Given the description of an element on the screen output the (x, y) to click on. 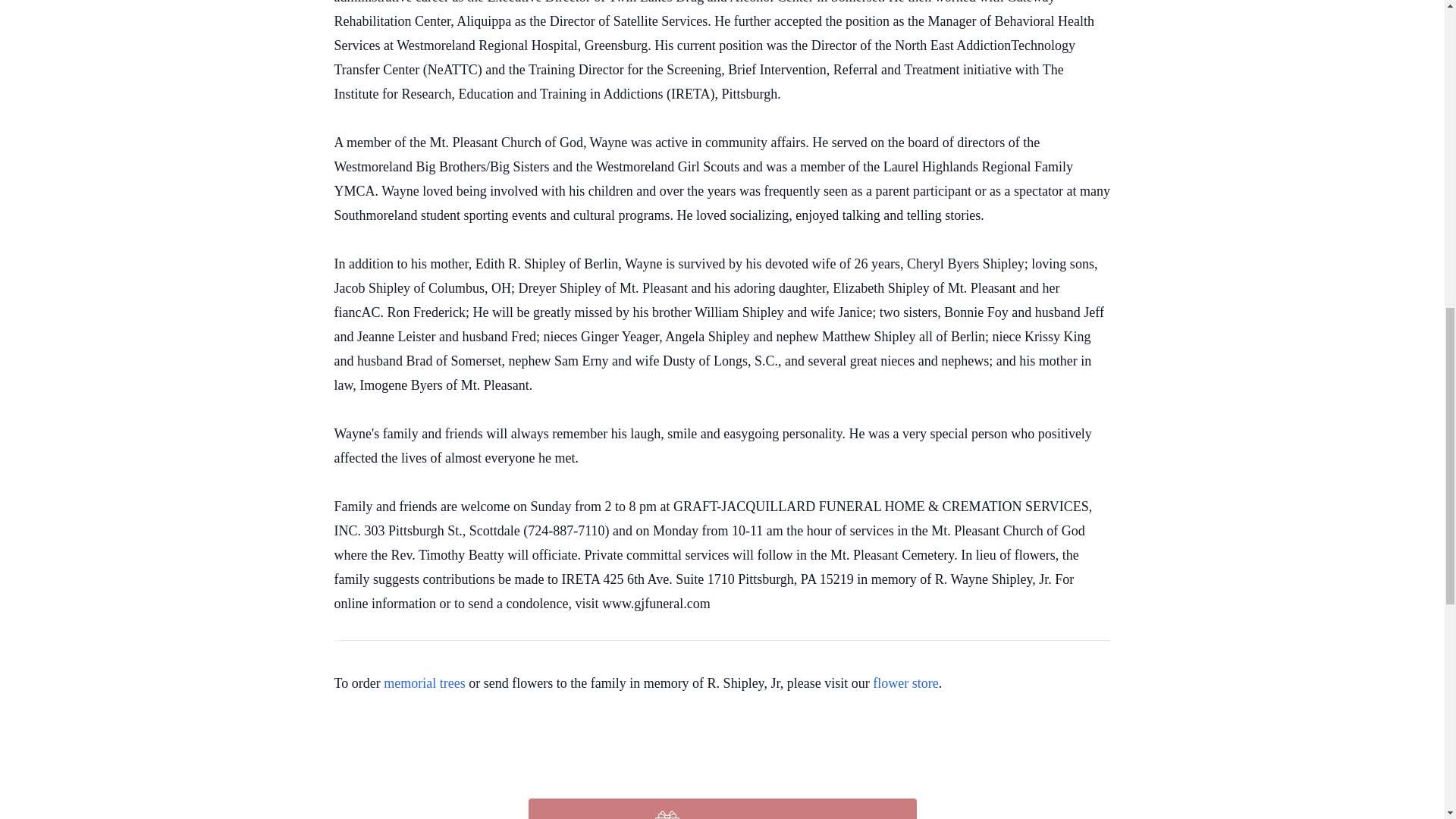
SEND WITH LOVE (721, 808)
flower store (904, 683)
memorial trees (424, 683)
